Given the description of an element on the screen output the (x, y) to click on. 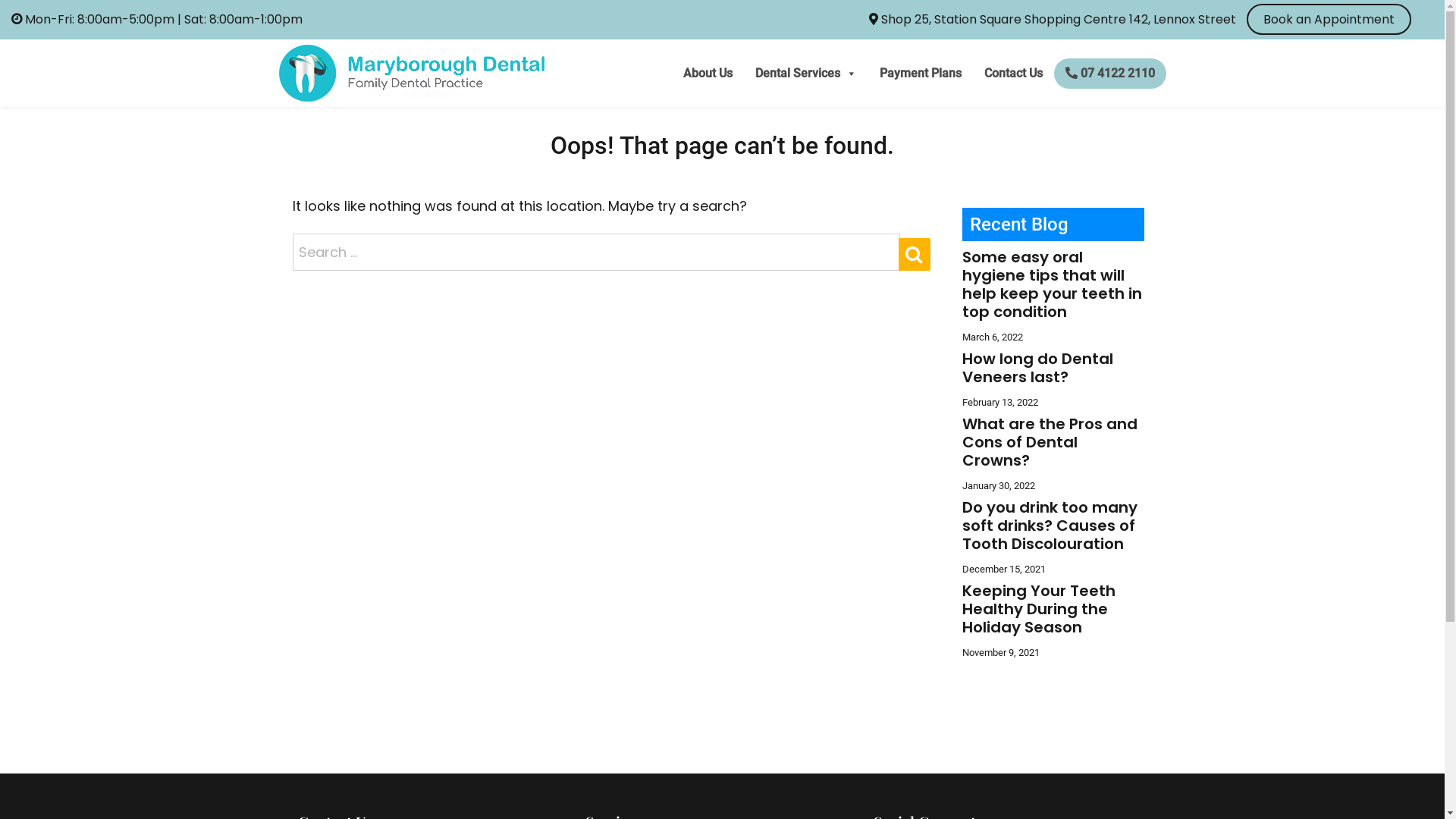
07 4122 2110 Element type: text (1110, 73)
About Us Element type: text (707, 73)
Payment Plans Element type: text (919, 73)
Dental Services Element type: text (805, 73)
Keeping Your Teeth Healthy During the Holiday Season Element type: text (1038, 608)
Shop 25, Station Square Shopping Centre 142, Lennox Street Element type: text (1052, 19)
Contact Us Element type: text (1012, 73)
What are the Pros and Cons of Dental Crowns? Element type: text (1049, 441)
How long do Dental Veneers last? Element type: text (1037, 367)
Book an Appointment Element type: text (1328, 18)
